Given the description of an element on the screen output the (x, y) to click on. 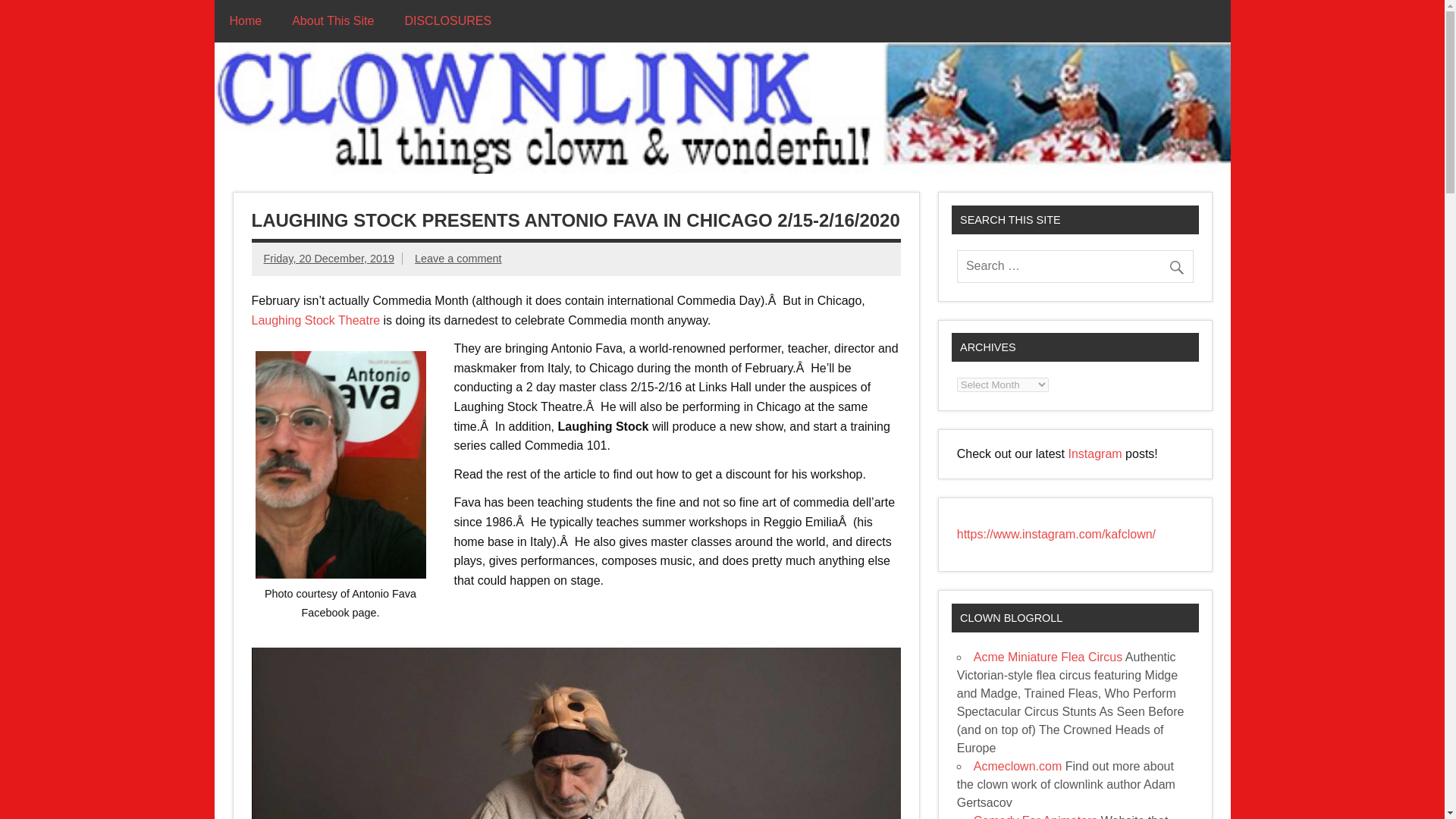
Acmeclown.com (1017, 766)
About This Site (333, 20)
Home (245, 20)
DISCLOSURES (448, 20)
2:13 pm (328, 258)
Laughing Stock Theatre (315, 319)
Friday, 20 December, 2019 (328, 258)
Instagram (1096, 453)
Leave a comment (457, 258)
Acme Miniature Flea Circus (1048, 656)
